Given the description of an element on the screen output the (x, y) to click on. 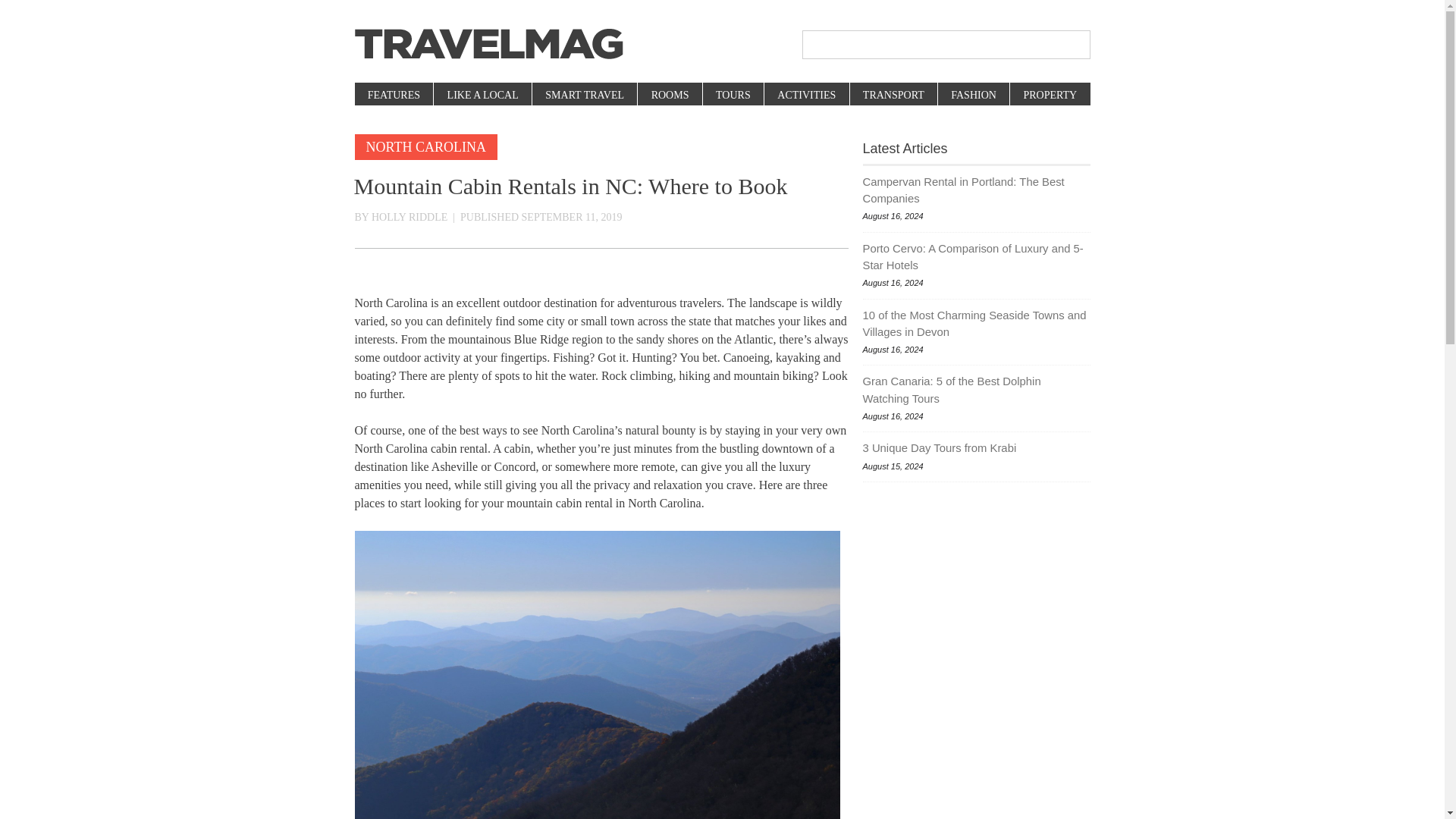
Gran Canaria: 5 of the Best Dolphin Watching Tours (976, 390)
SMART TRAVEL (584, 95)
LIKE A LOCAL (481, 95)
PROPERTY (1049, 95)
TravelMag (489, 43)
TRANSPORT (892, 95)
Campervan Rental in Portland: The Best Companies (976, 190)
ROOMS (669, 95)
3 Unique Day Tours from Krabi (976, 447)
10 of the Most Charming Seaside Towns and Villages in Devon (976, 324)
